Given the description of an element on the screen output the (x, y) to click on. 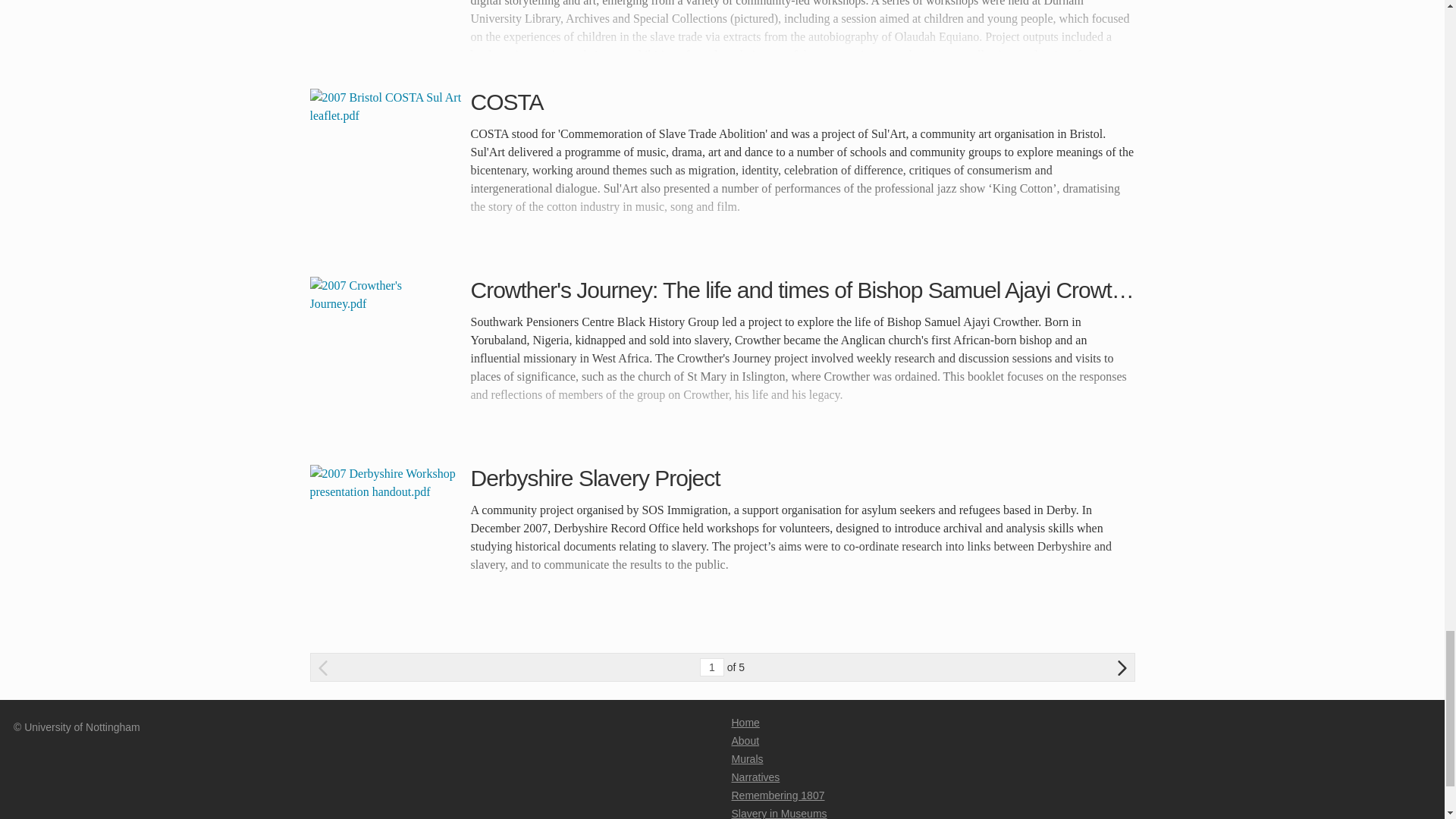
Murals (746, 758)
Next (1122, 666)
Previous (322, 667)
2007 Bristol COSTA Sul Art leaflet.pdf (384, 164)
About (744, 740)
Narratives (754, 776)
2007 Crowther's Journey.pdf (384, 352)
Remembering 1807 (777, 795)
cw003.jpg (384, 26)
Next (1122, 667)
1 (711, 667)
Home (744, 722)
